Given the description of an element on the screen output the (x, y) to click on. 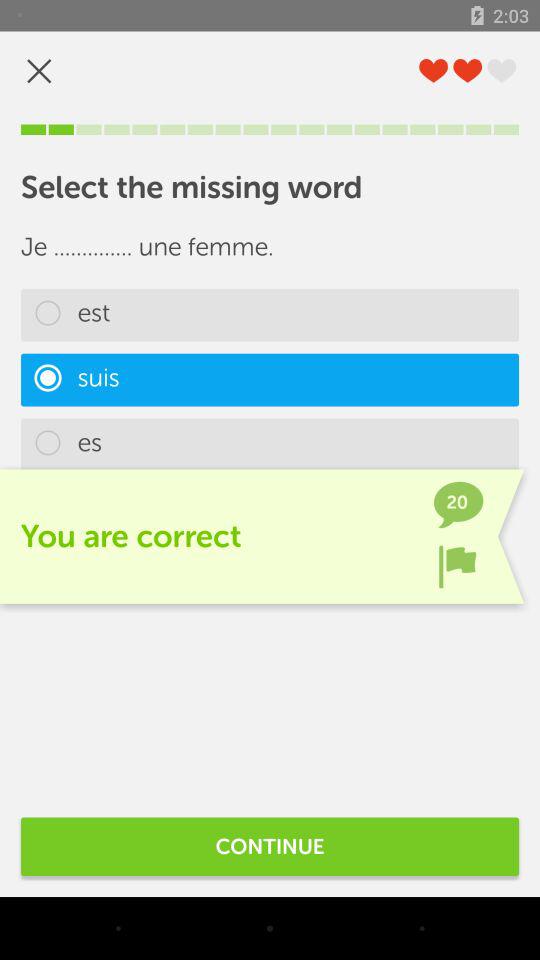
choose the item below est item (270, 379)
